Given the description of an element on the screen output the (x, y) to click on. 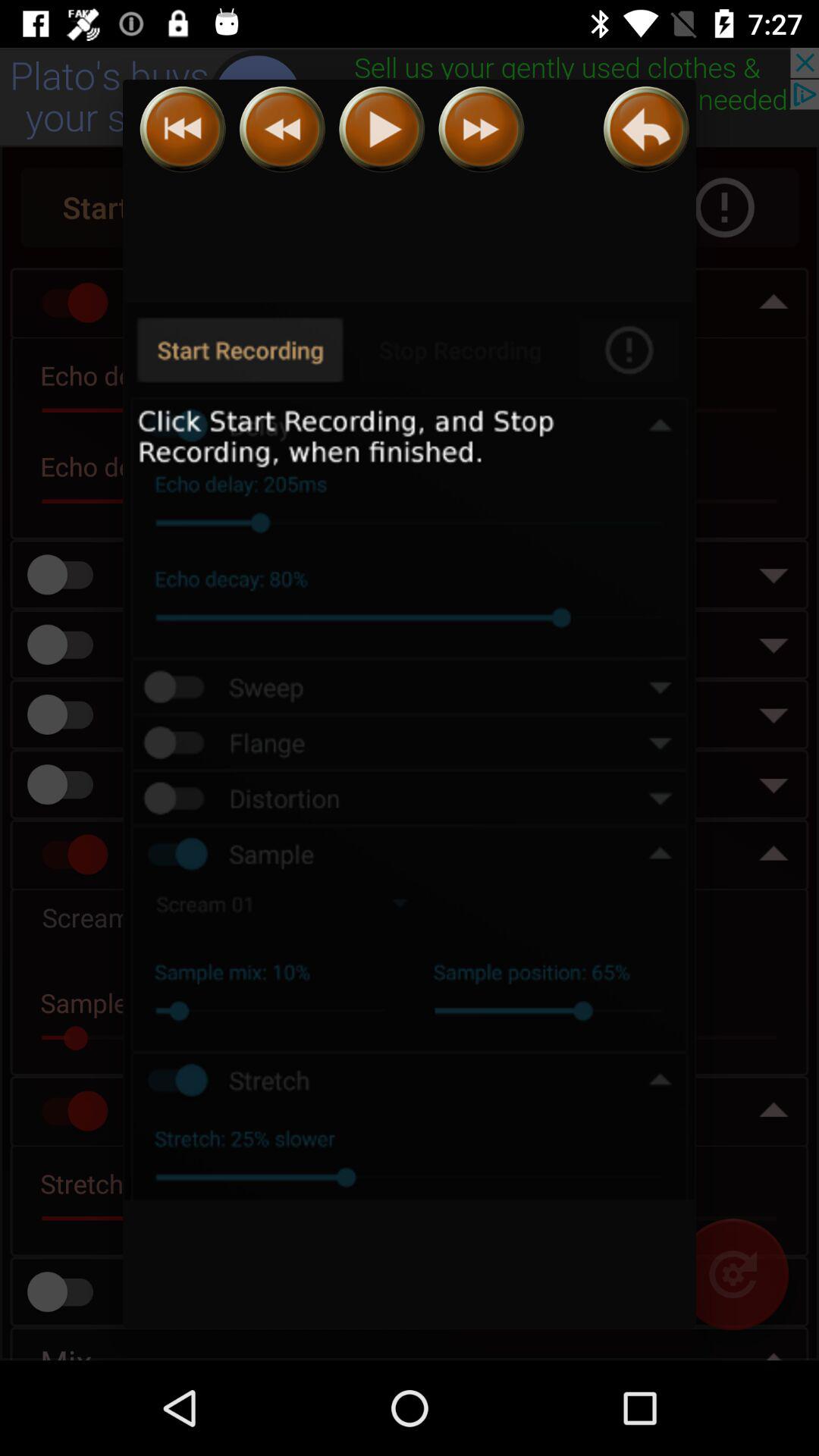
go to previous (282, 129)
